Given the description of an element on the screen output the (x, y) to click on. 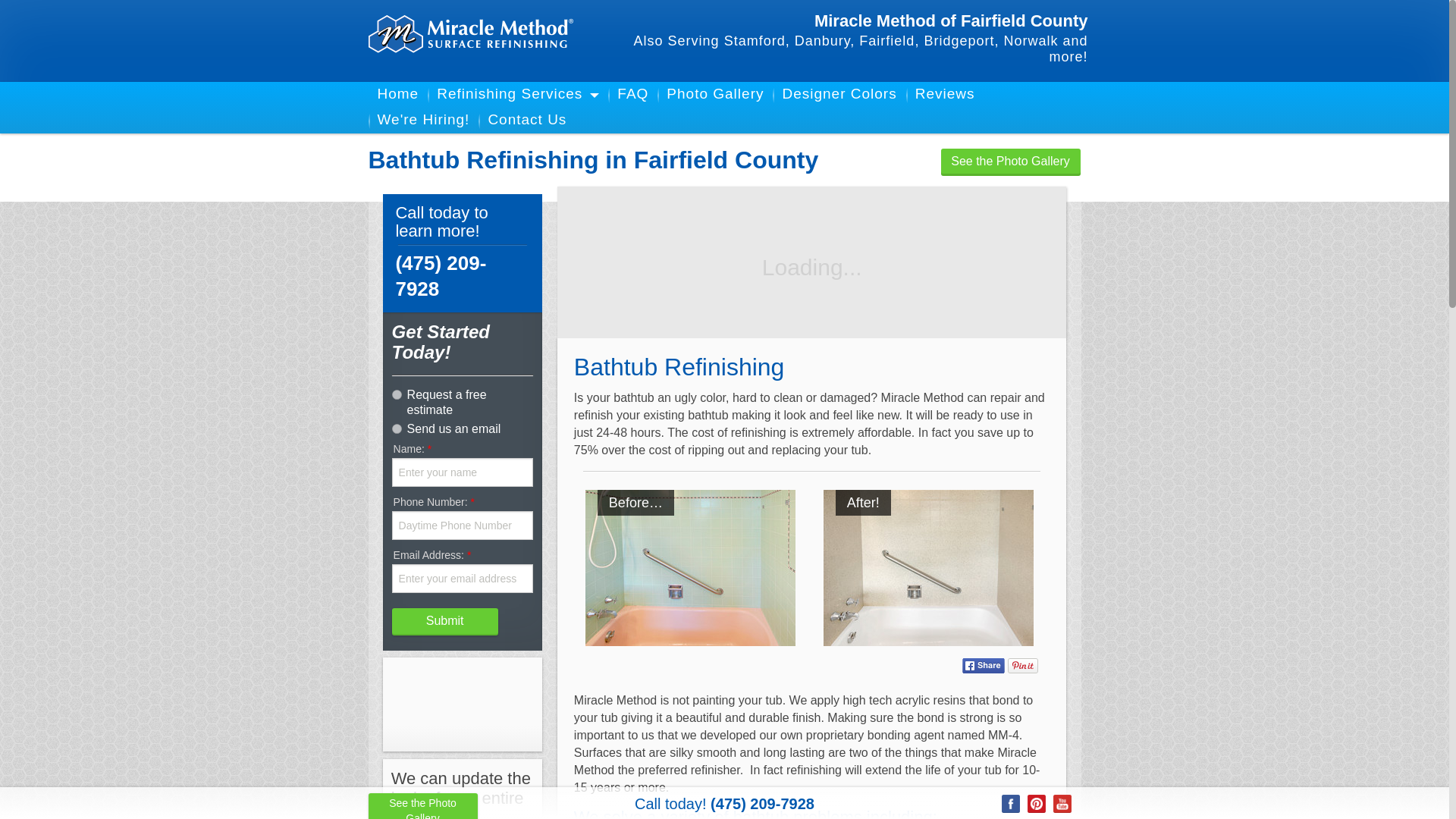
FAQ (632, 93)
Reviews (945, 93)
See the Photo Gallery (422, 806)
estimate (396, 394)
We're Hiring! (423, 119)
Contact Us (526, 119)
contact (396, 429)
Photo Gallery (714, 93)
See the Photo Gallery (1010, 162)
Designer Colors (838, 93)
Home (398, 93)
Submit (444, 621)
Refinishing Services (509, 93)
